Given the description of an element on the screen output the (x, y) to click on. 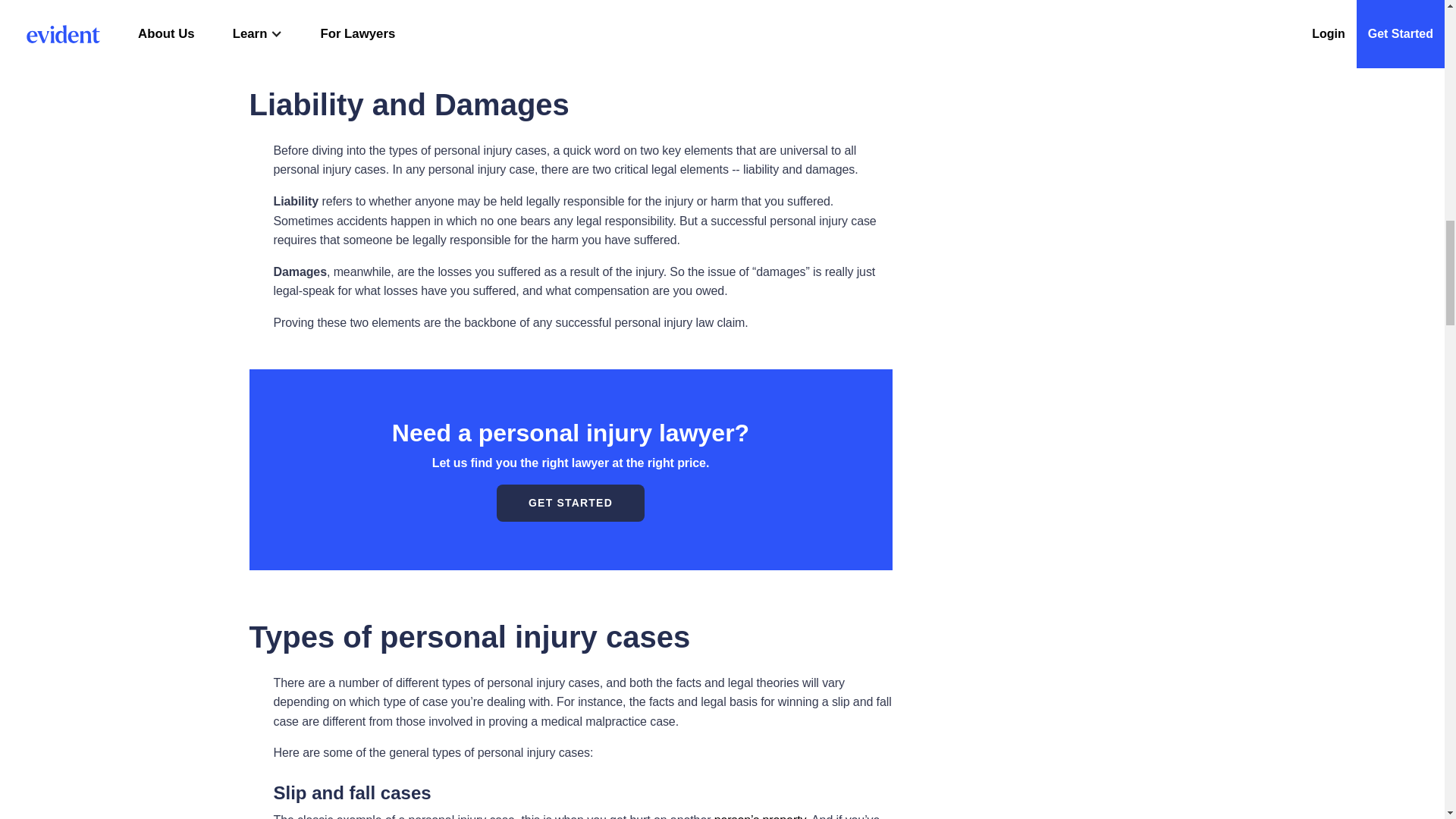
GET STARTED (570, 502)
